Given the description of an element on the screen output the (x, y) to click on. 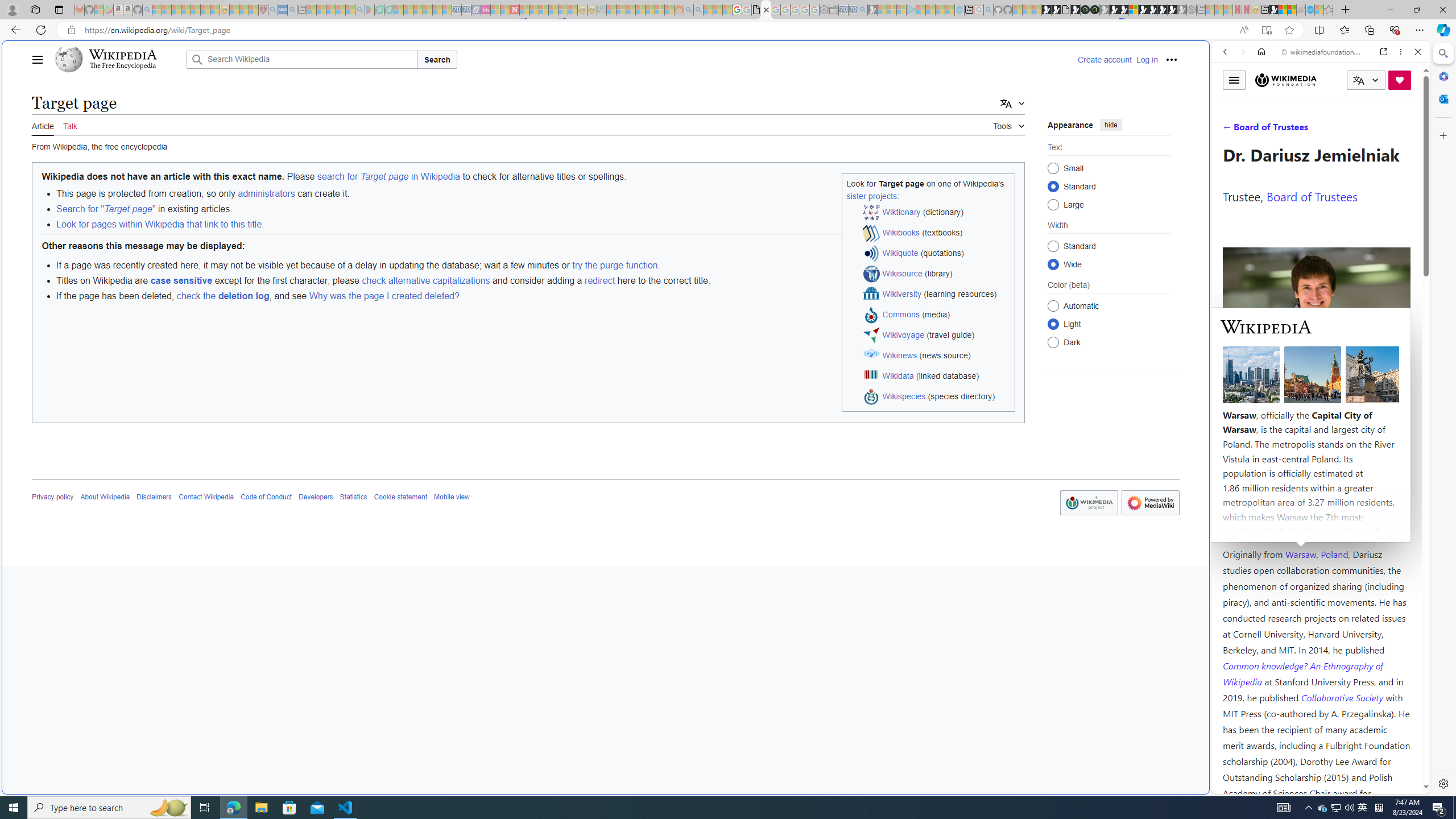
google - Search - Sleeping (359, 9)
SEARCH TOOLS (1350, 130)
Play Free Online Games | Games from Microsoft Start (1151, 9)
Terms of Use Agreement - Sleeping (378, 9)
Create account (1104, 58)
Tabs you've opened (885, 151)
Enter Immersive Reader (F9) (1266, 29)
Log in (1146, 58)
Wikipedia The Free Encyclopedia (117, 59)
Microsoft-Report a Concern to Bing - Sleeping (98, 9)
Cookie statement (400, 497)
This site scope (1259, 102)
